Given the description of an element on the screen output the (x, y) to click on. 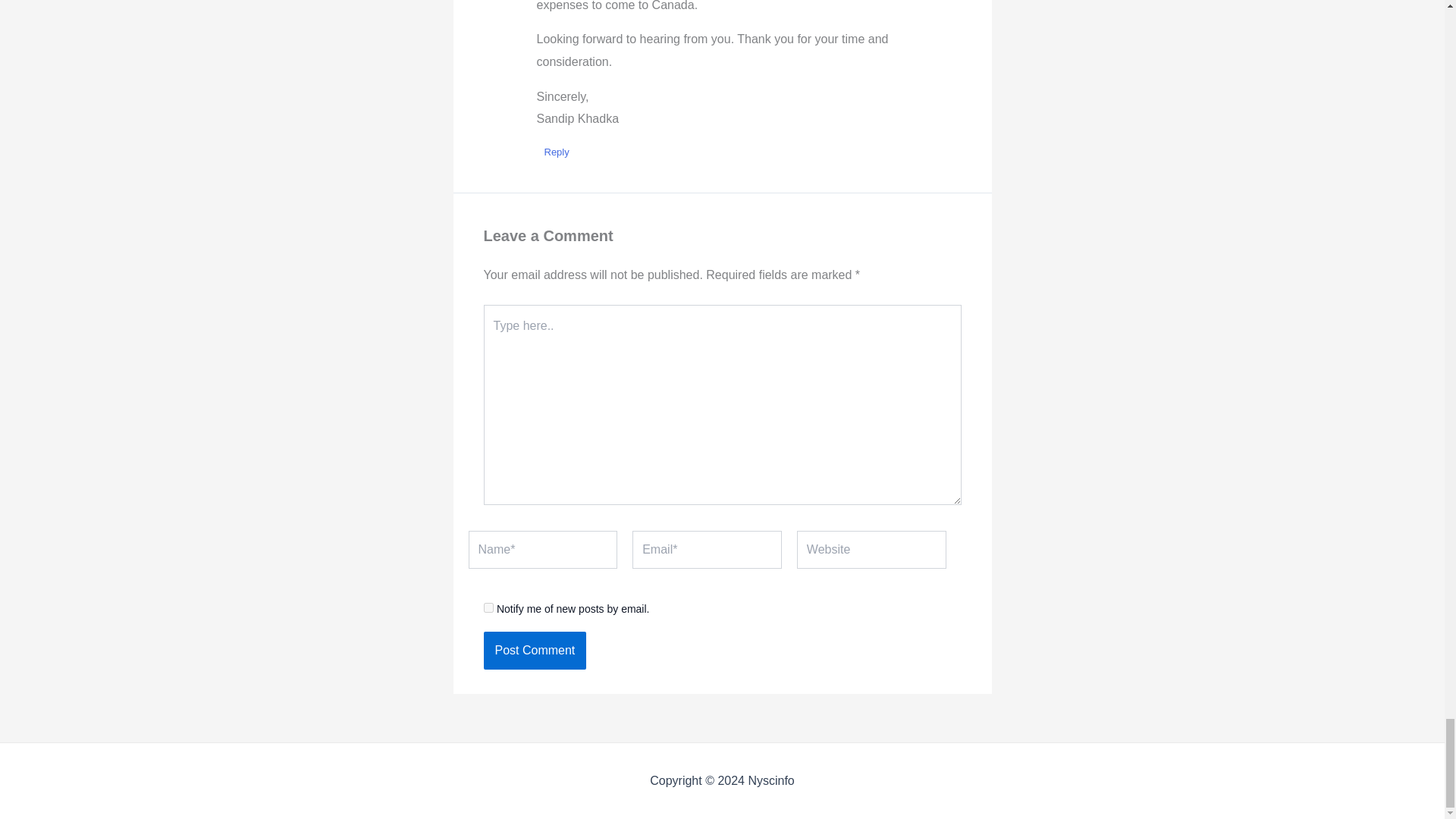
Post Comment (534, 650)
Reply (556, 152)
subscribe (488, 607)
Post Comment (534, 650)
